Given the description of an element on the screen output the (x, y) to click on. 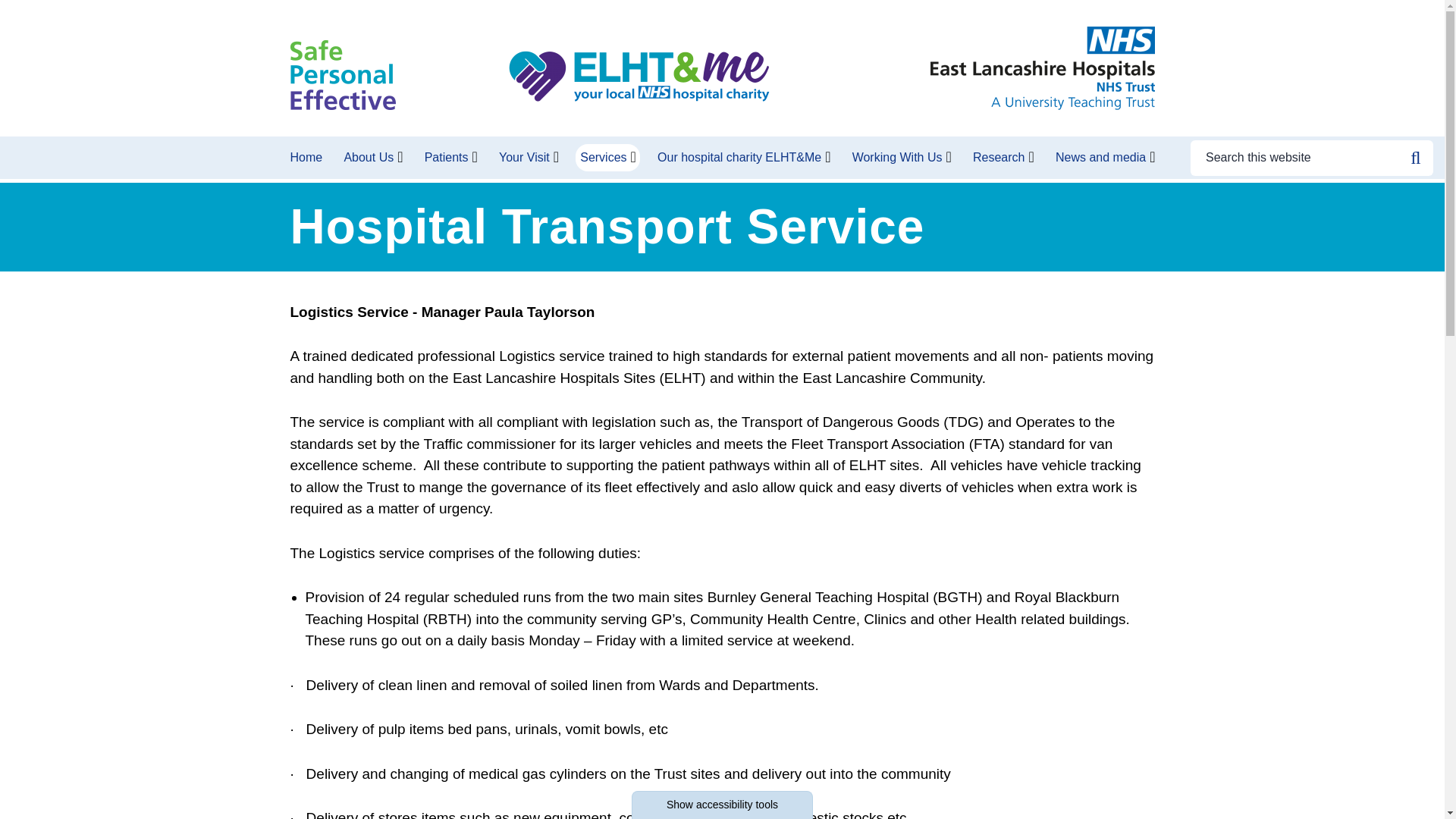
About Us (368, 157)
Donate to support your hospital charity  (638, 77)
Home (307, 157)
